Given the description of an element on the screen output the (x, y) to click on. 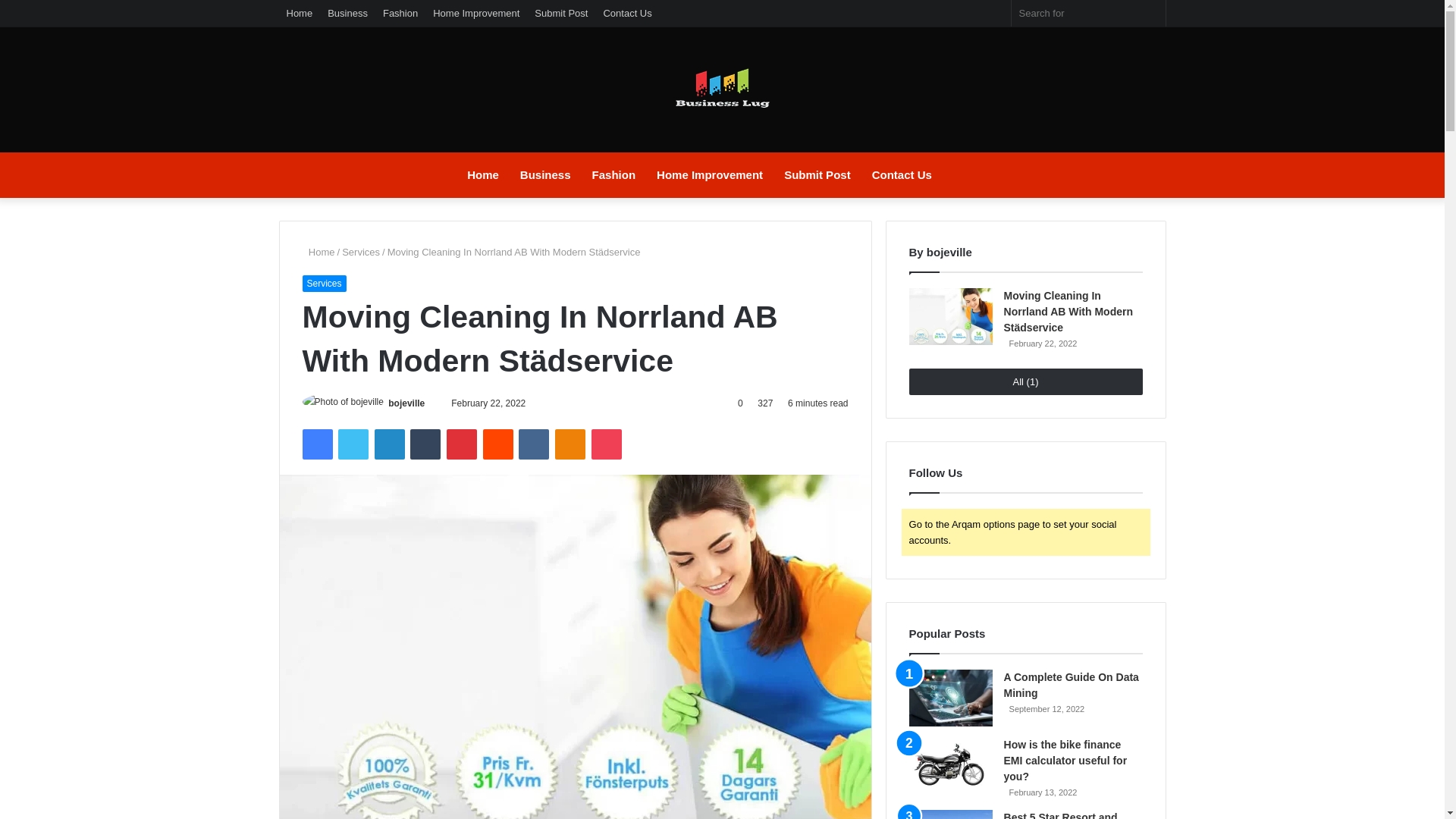
Fashion (400, 13)
Reddit (498, 444)
LinkedIn (389, 444)
Odnoklassniki (569, 444)
VKontakte (533, 444)
Search for (1149, 13)
Home (317, 251)
Business Lug (721, 95)
Home Improvement (709, 175)
Facebook (316, 444)
